Given the description of an element on the screen output the (x, y) to click on. 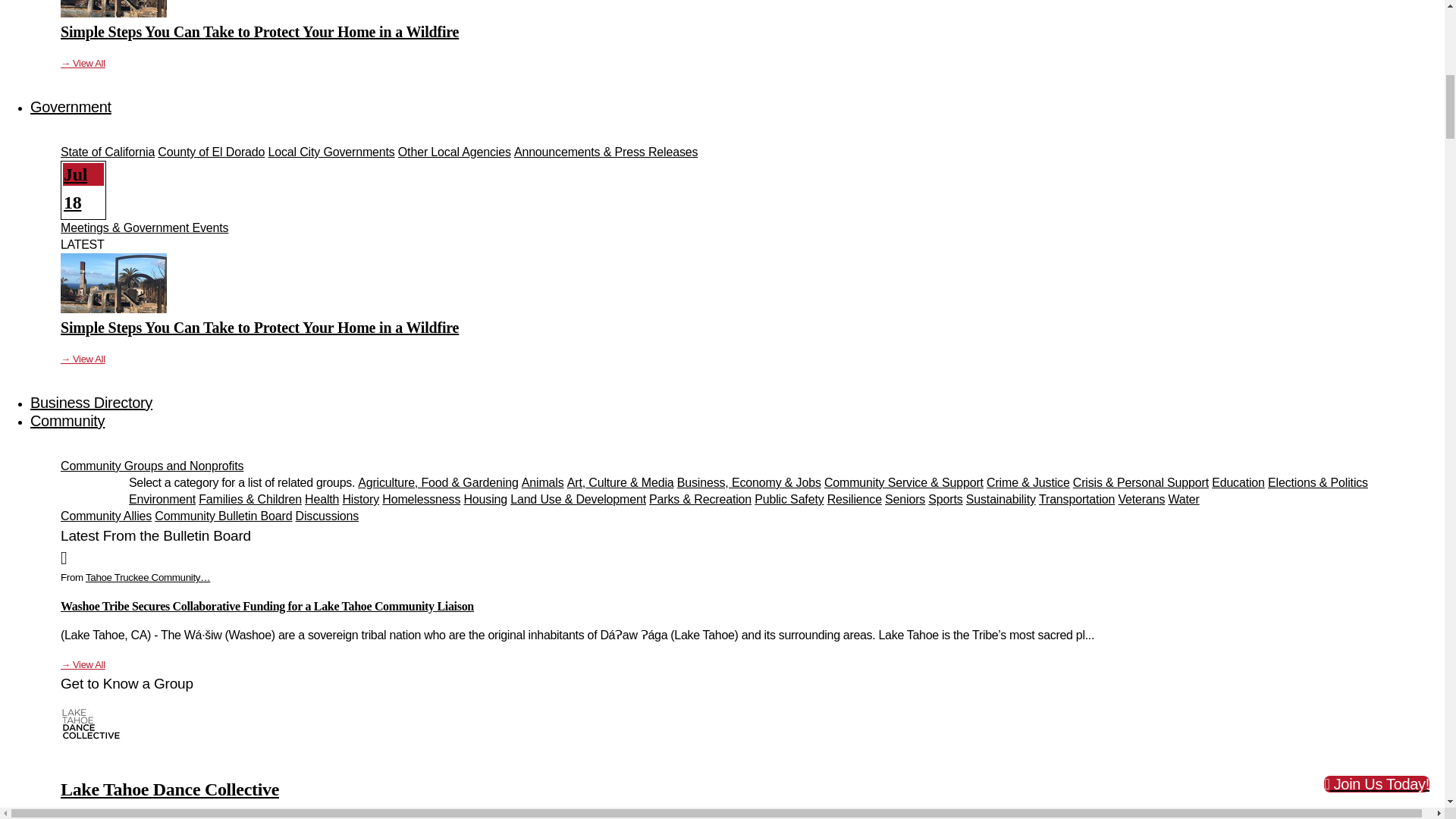
List local news items by topic. (152, 465)
California Local Good Business Directory (91, 402)
